Given the description of an element on the screen output the (x, y) to click on. 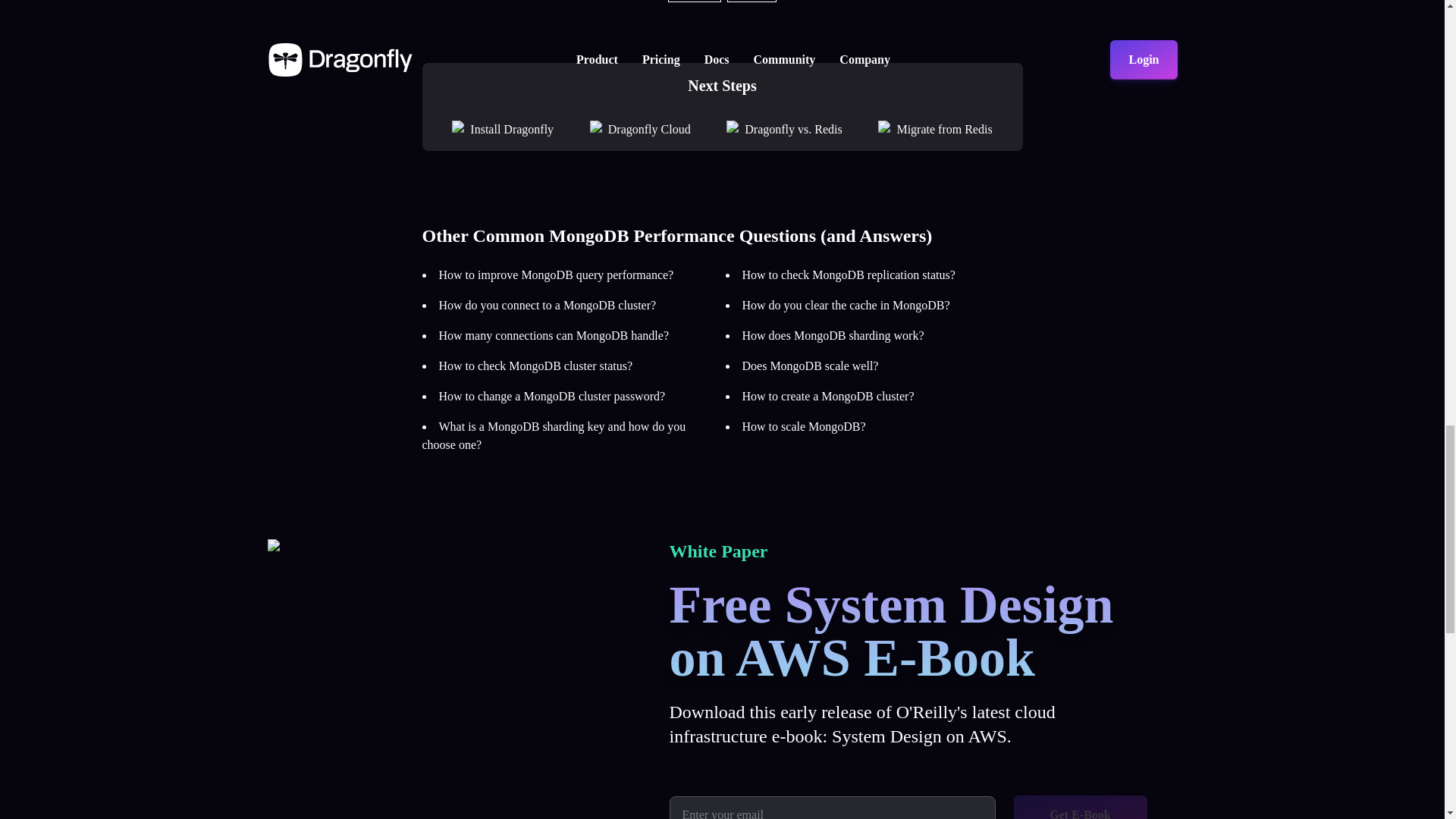
How to check MongoDB replication status? (848, 274)
How does MongoDB sharding work? (832, 335)
Dragonfly vs. Redis (792, 129)
Dragonfly Cloud (649, 129)
How do you clear the cache in MongoDB? (845, 305)
Migrate from Redis (943, 129)
How many connections can MongoDB handle? (553, 335)
Install Dragonfly (511, 129)
How to check MongoDB cluster status? (534, 365)
How do you connect to a MongoDB cluster? (547, 305)
